Given the description of an element on the screen output the (x, y) to click on. 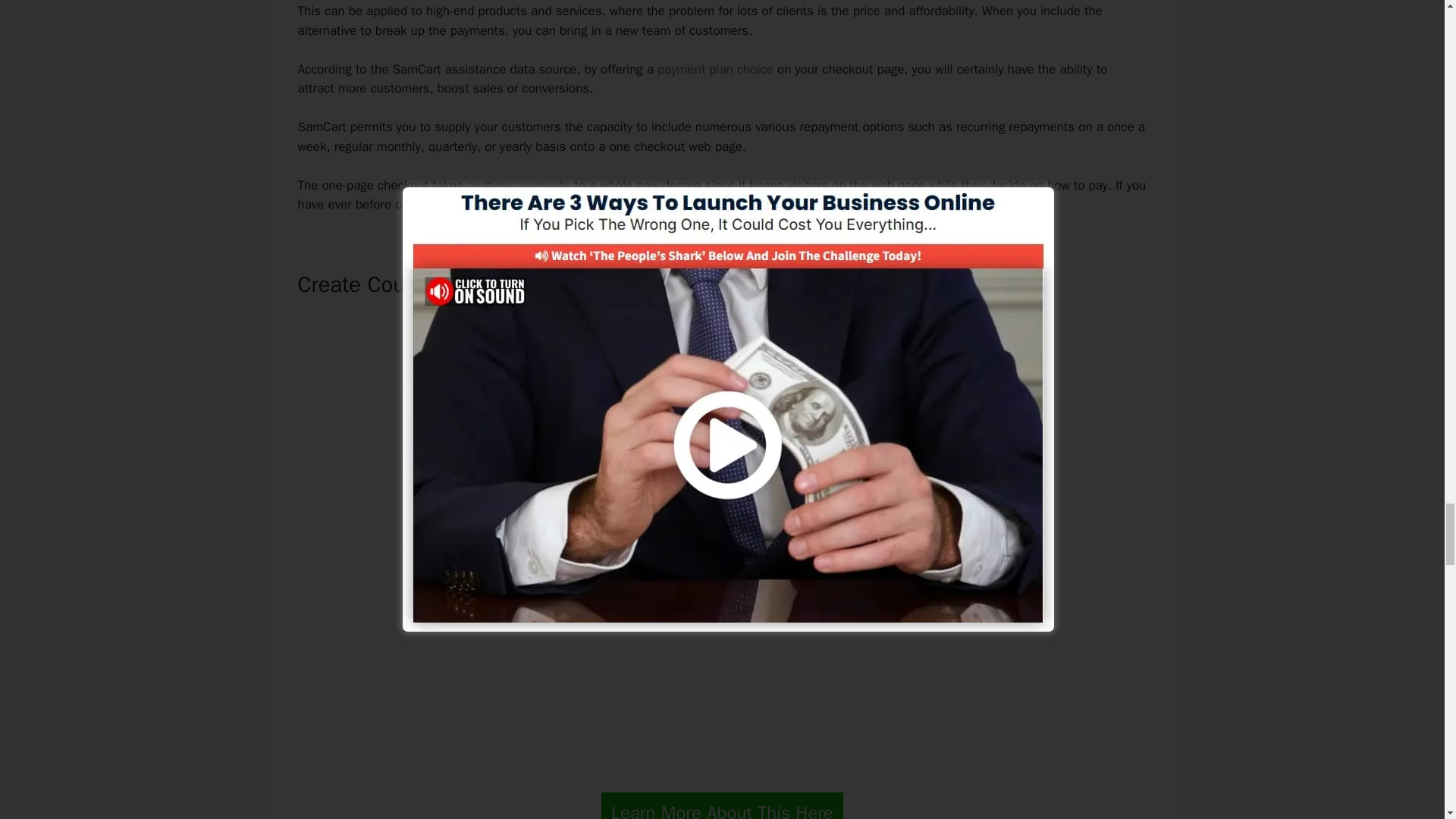
payment plan choice (715, 68)
multiple payments (518, 185)
Learn More About This Here (722, 805)
